Given the description of an element on the screen output the (x, y) to click on. 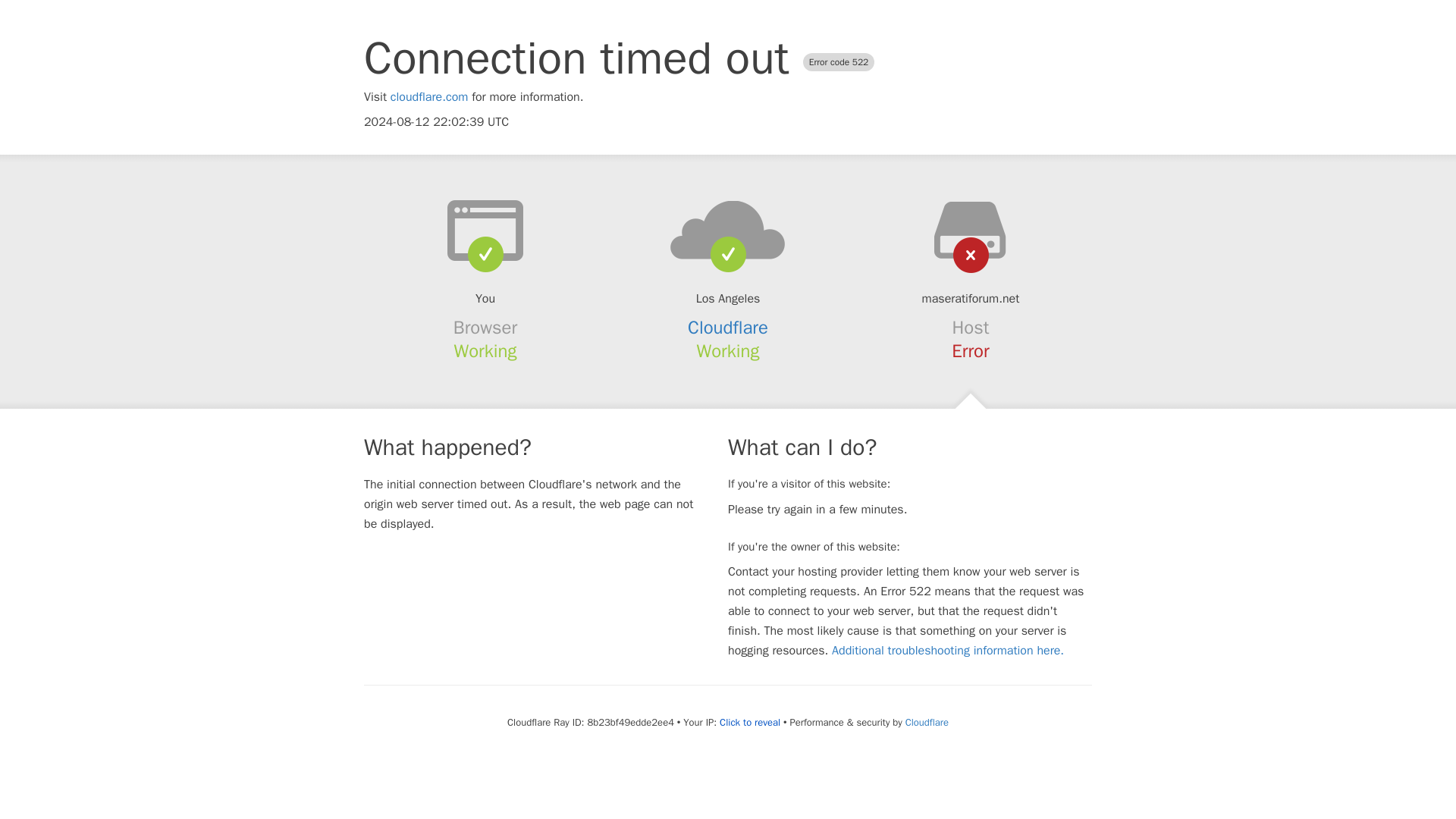
Click to reveal (749, 722)
Cloudflare (727, 327)
cloudflare.com (429, 96)
Additional troubleshooting information here. (947, 650)
Cloudflare (927, 721)
